Given the description of an element on the screen output the (x, y) to click on. 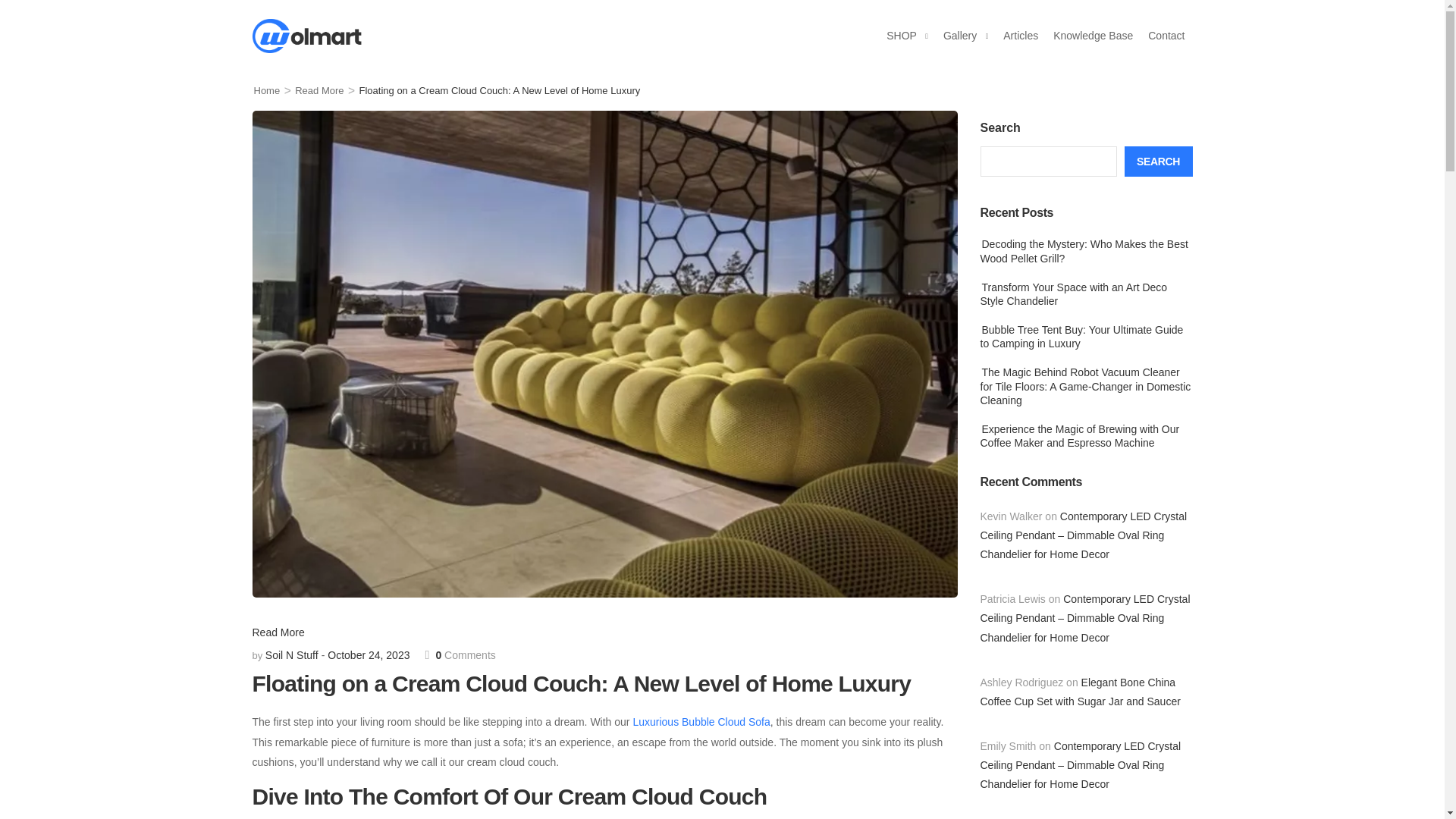
Soil N Stuff (291, 654)
October 24, 2023 (368, 654)
0 Comments (460, 655)
Home (266, 90)
SEARCH (1158, 161)
Elegant Bone China Coffee Cup Set with Sugar Jar and Saucer (1079, 691)
Read More (277, 632)
0 Comments (460, 655)
Gallery (960, 35)
Read More (319, 90)
Articles (1020, 35)
SHOP (901, 35)
Knowledge Base (1092, 35)
Transform Your Space with an Art Deco Style Chandelier (1073, 294)
